Given the description of an element on the screen output the (x, y) to click on. 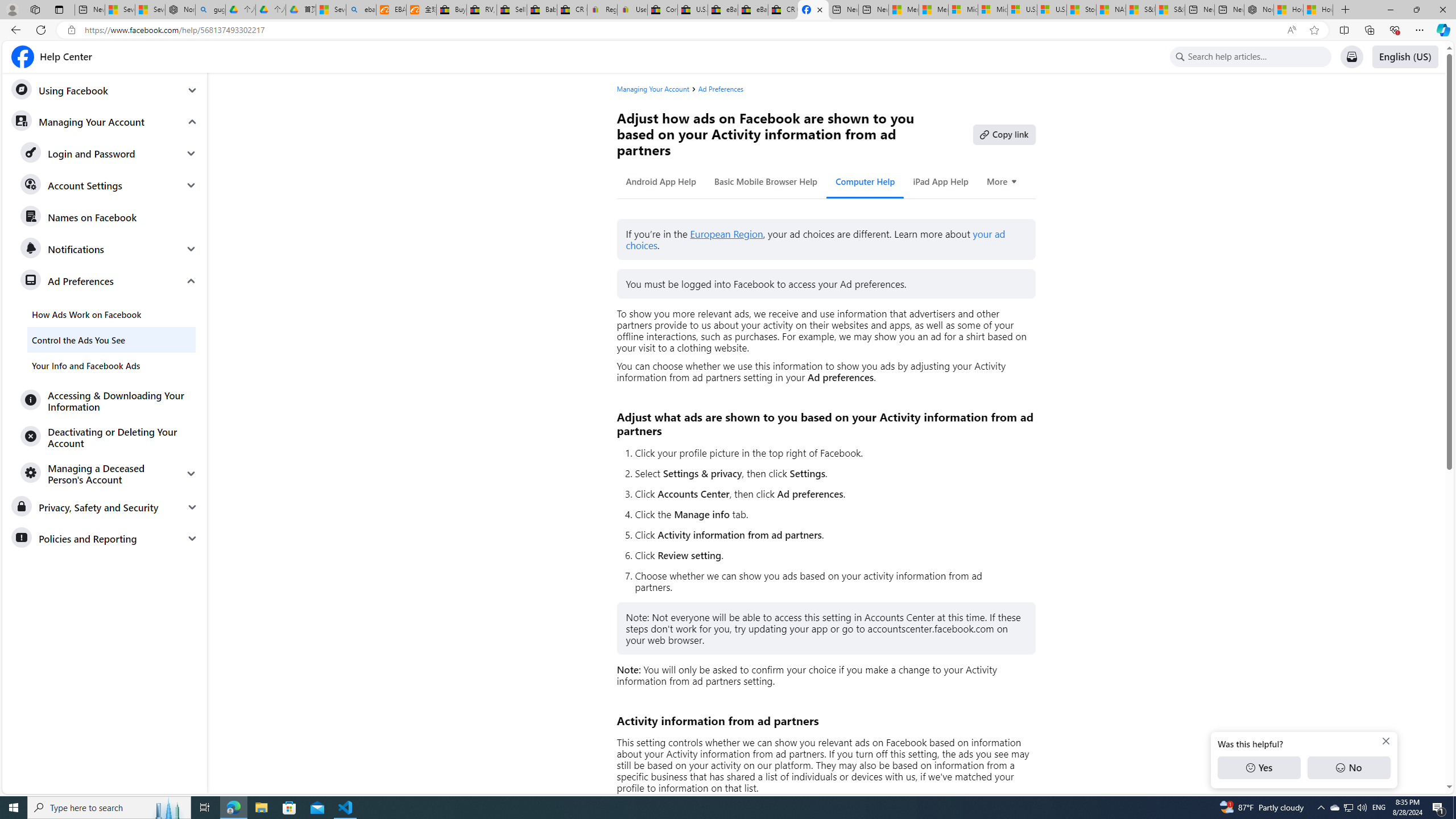
Dismiss (1385, 741)
Baby Keepsakes & Announcements for sale | eBay (542, 9)
Expand (191, 473)
Ad Preferences Expand (109, 280)
Names on Facebook (108, 217)
Privacy, Safety and Security (104, 506)
No (1348, 767)
Click the Manage info tab. (829, 514)
Click Activity information from ad partners. (829, 534)
